Given the description of an element on the screen output the (x, y) to click on. 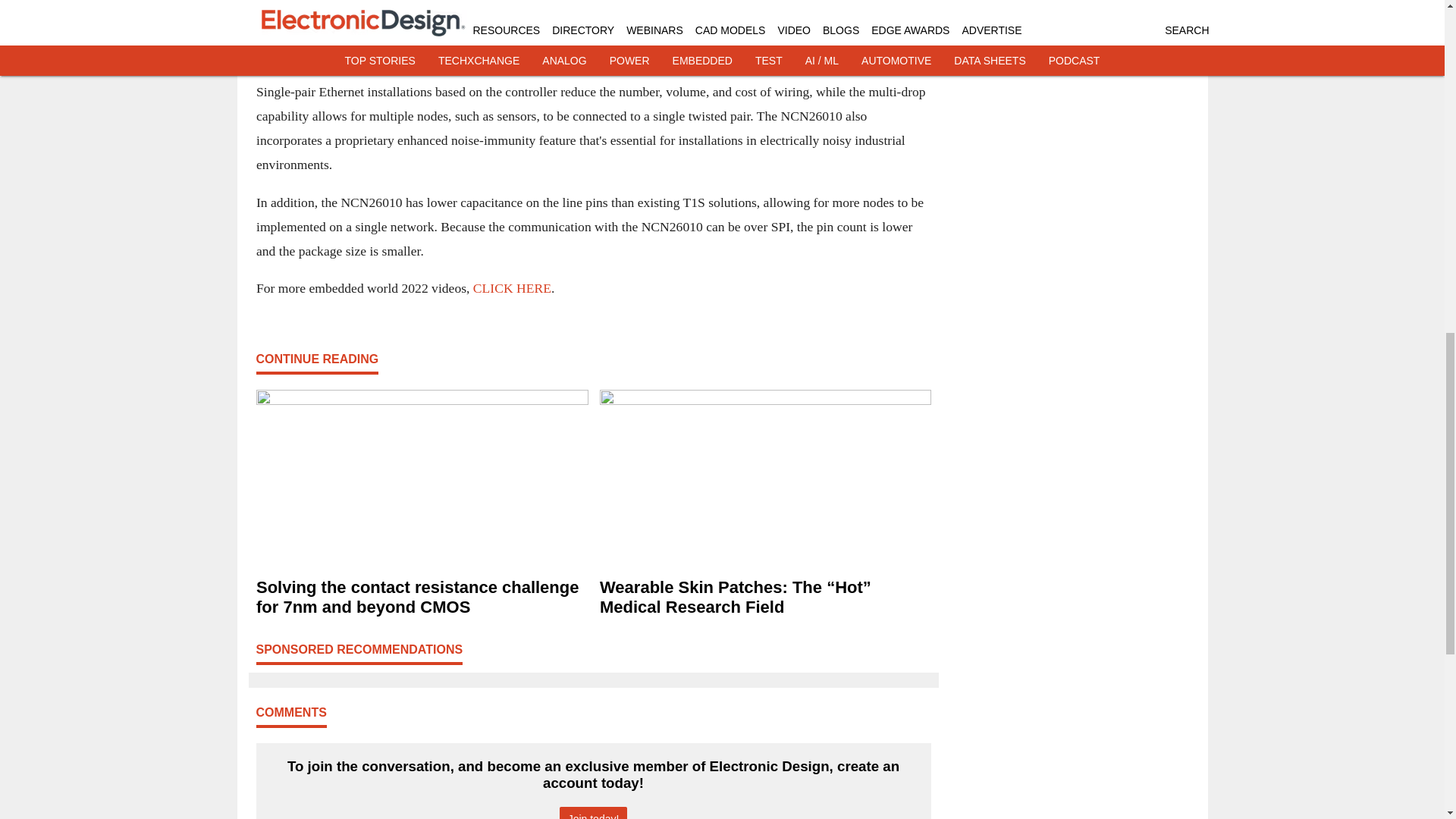
CLICK HERE (510, 287)
Join today! (593, 812)
